Given the description of an element on the screen output the (x, y) to click on. 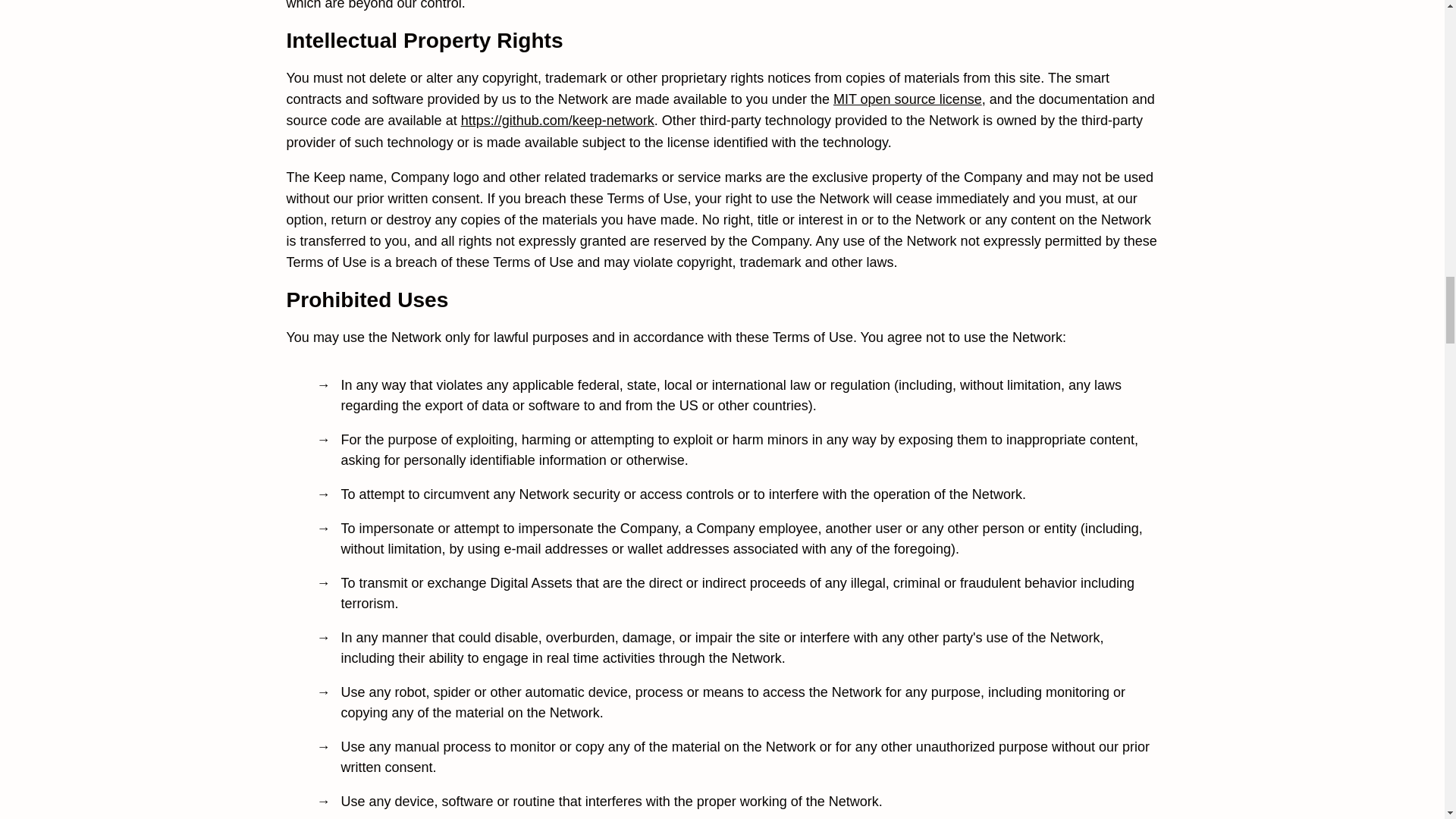
MIT open source license (906, 99)
